Given the description of an element on the screen output the (x, y) to click on. 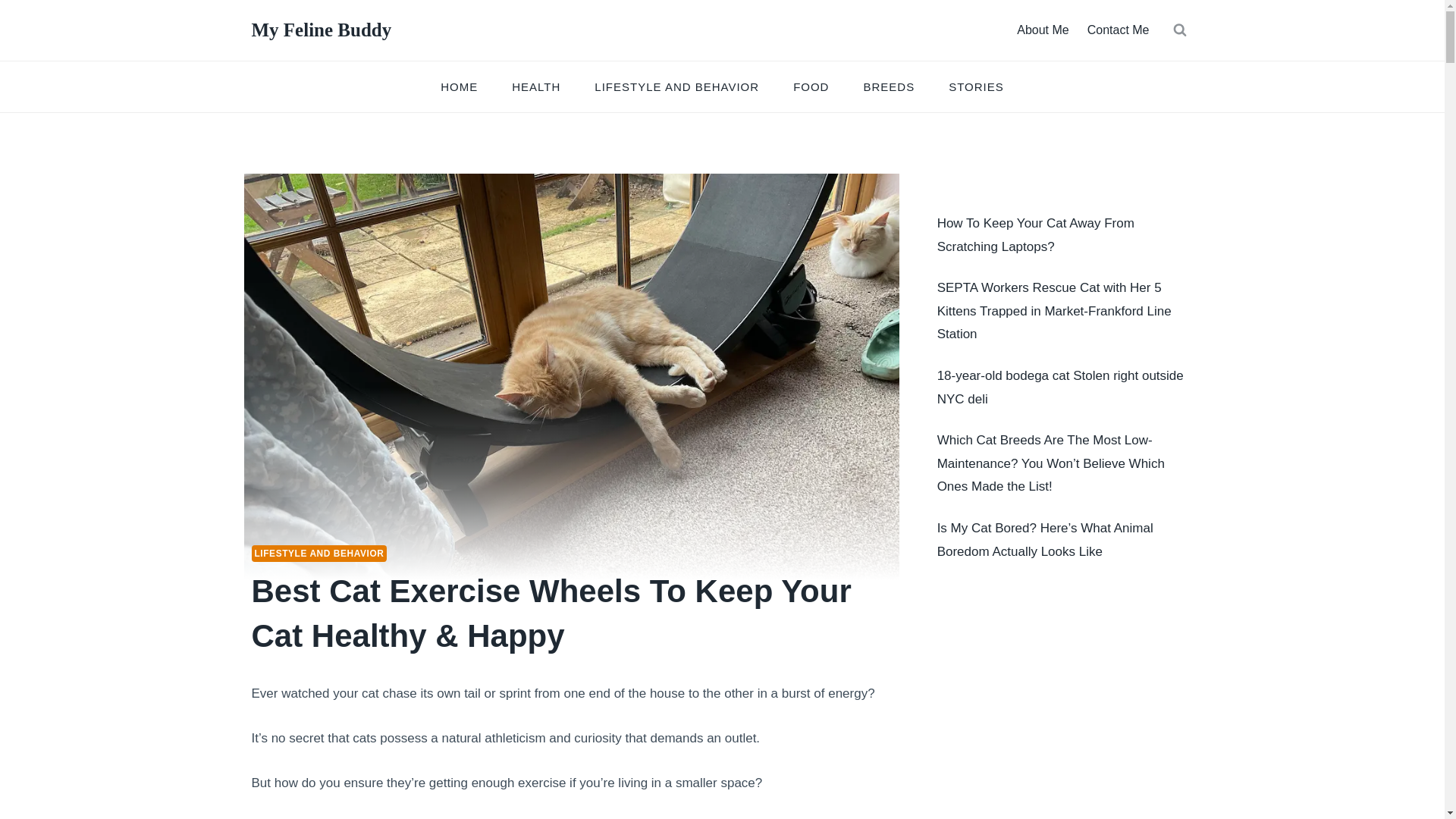
About Me (1042, 30)
HOME (459, 86)
LIFESTYLE AND BEHAVIOR (677, 86)
BREEDS (888, 86)
STORIES (976, 86)
LIFESTYLE AND BEHAVIOR (319, 553)
HEALTH (536, 86)
FOOD (810, 86)
Contact Me (1118, 30)
My Feline Buddy (321, 30)
